Given the description of an element on the screen output the (x, y) to click on. 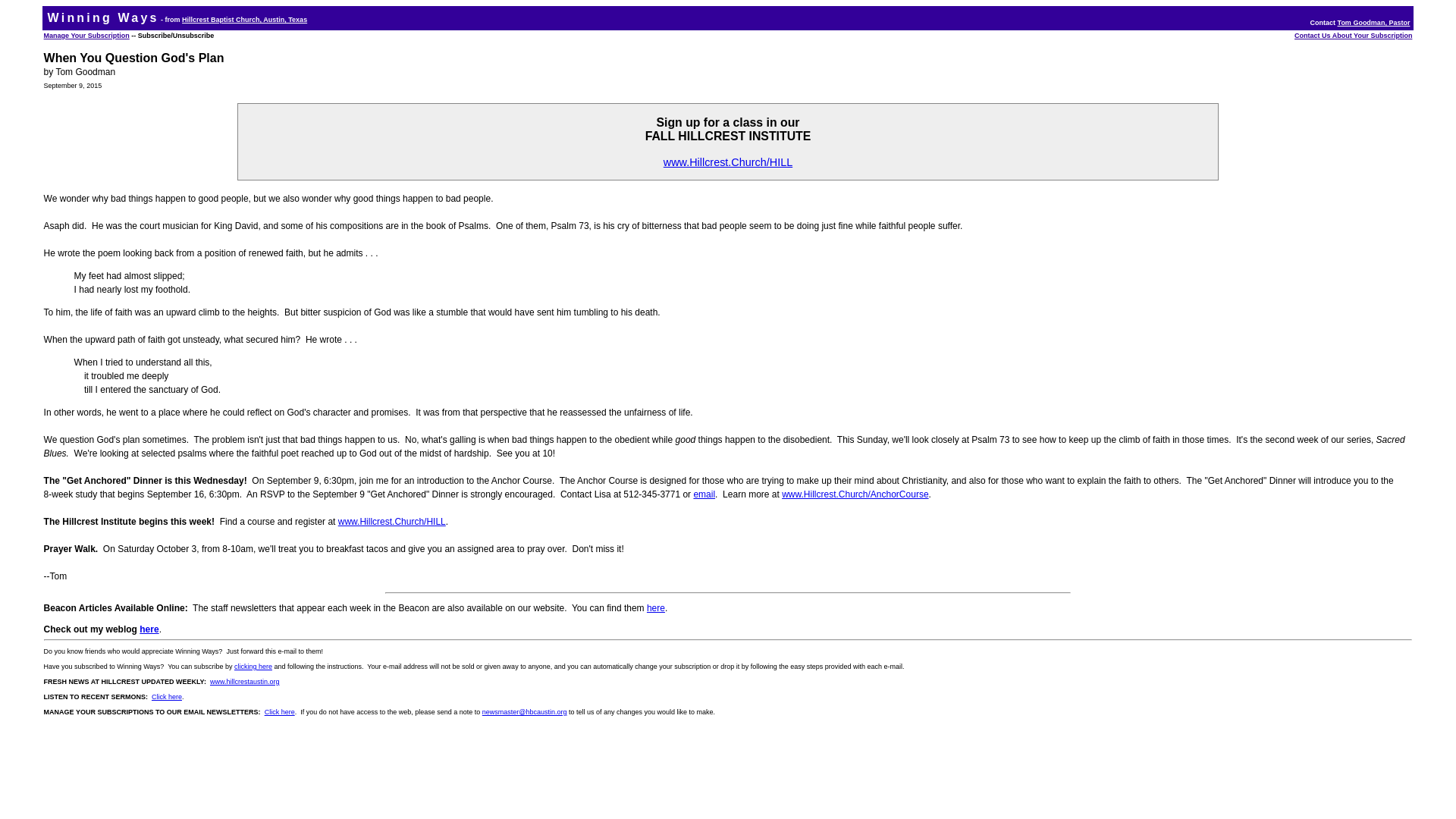
Contact Us About Your Subscription (1353, 35)
Hillcrest Baptist Church, Austin, Texas (244, 19)
Click here (279, 711)
Manage Your Subscription (86, 35)
Tom Goodman, Pastor (1374, 22)
Click here (166, 696)
email (703, 493)
here (148, 629)
clicking here (253, 666)
here (655, 607)
www.hillcrestaustin.org (244, 681)
